Given the description of an element on the screen output the (x, y) to click on. 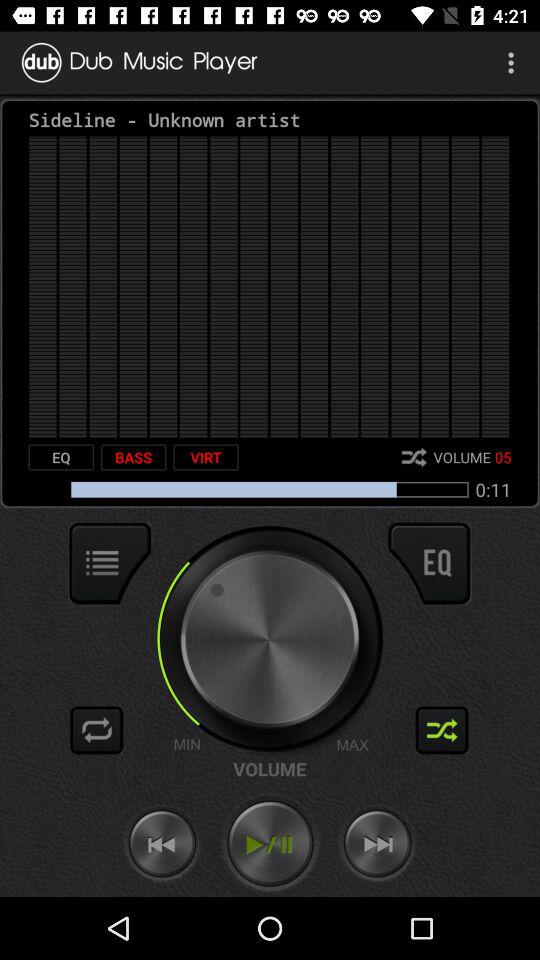
press the icon next to the   eq   item (133, 457)
